Given the description of an element on the screen output the (x, y) to click on. 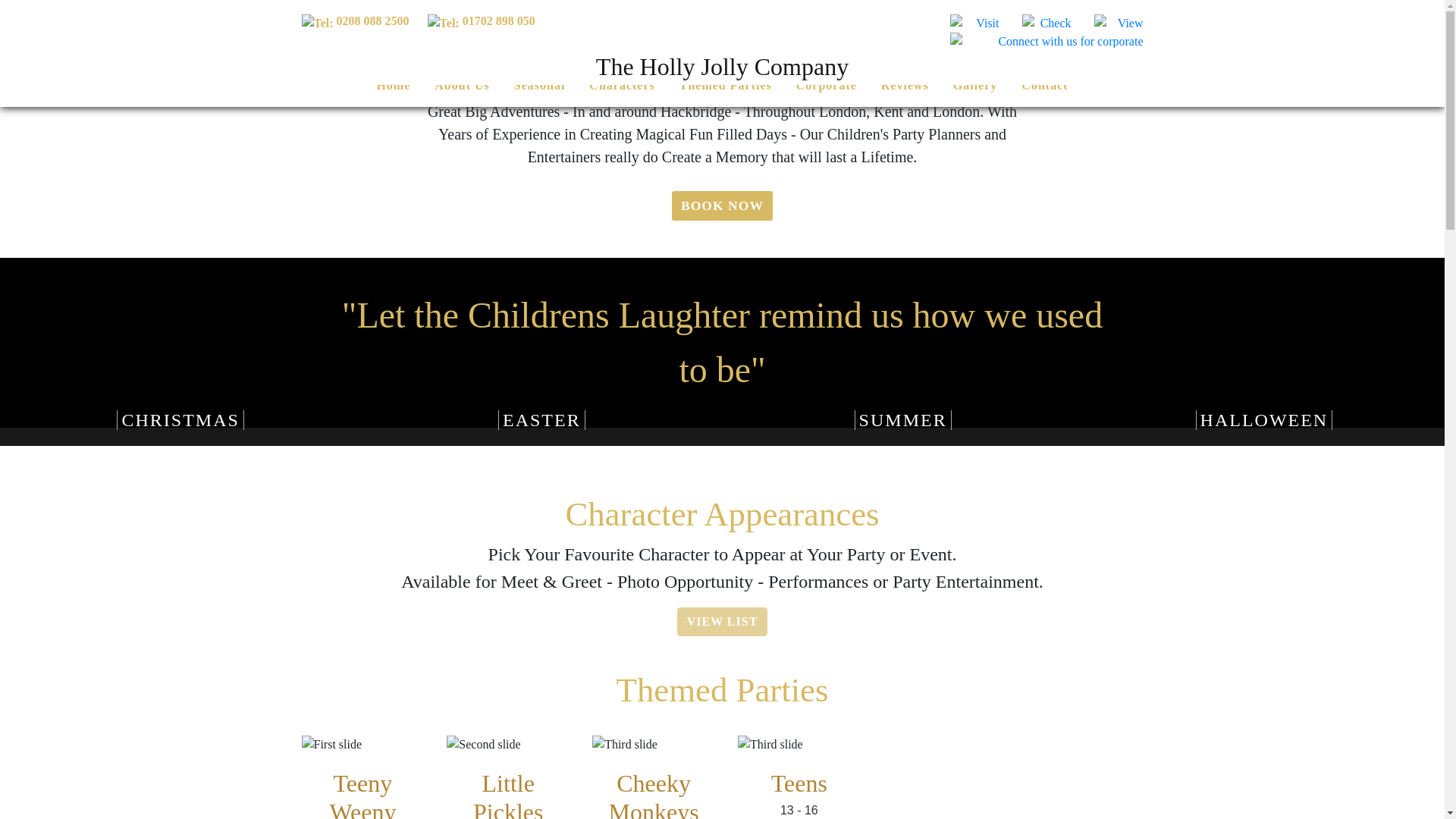
Themed Parties (725, 85)
About Us (461, 85)
SUMMER (903, 419)
Gallery (975, 85)
Characters (621, 85)
BOOK NOW (722, 205)
Gallery (975, 85)
0208 088 2500 (355, 20)
EASTER (541, 419)
HALLOWEEN (1264, 419)
Contact (1044, 85)
Contact (1044, 85)
BOOK NOW (722, 205)
Home (393, 85)
Reviews (904, 85)
